Given the description of an element on the screen output the (x, y) to click on. 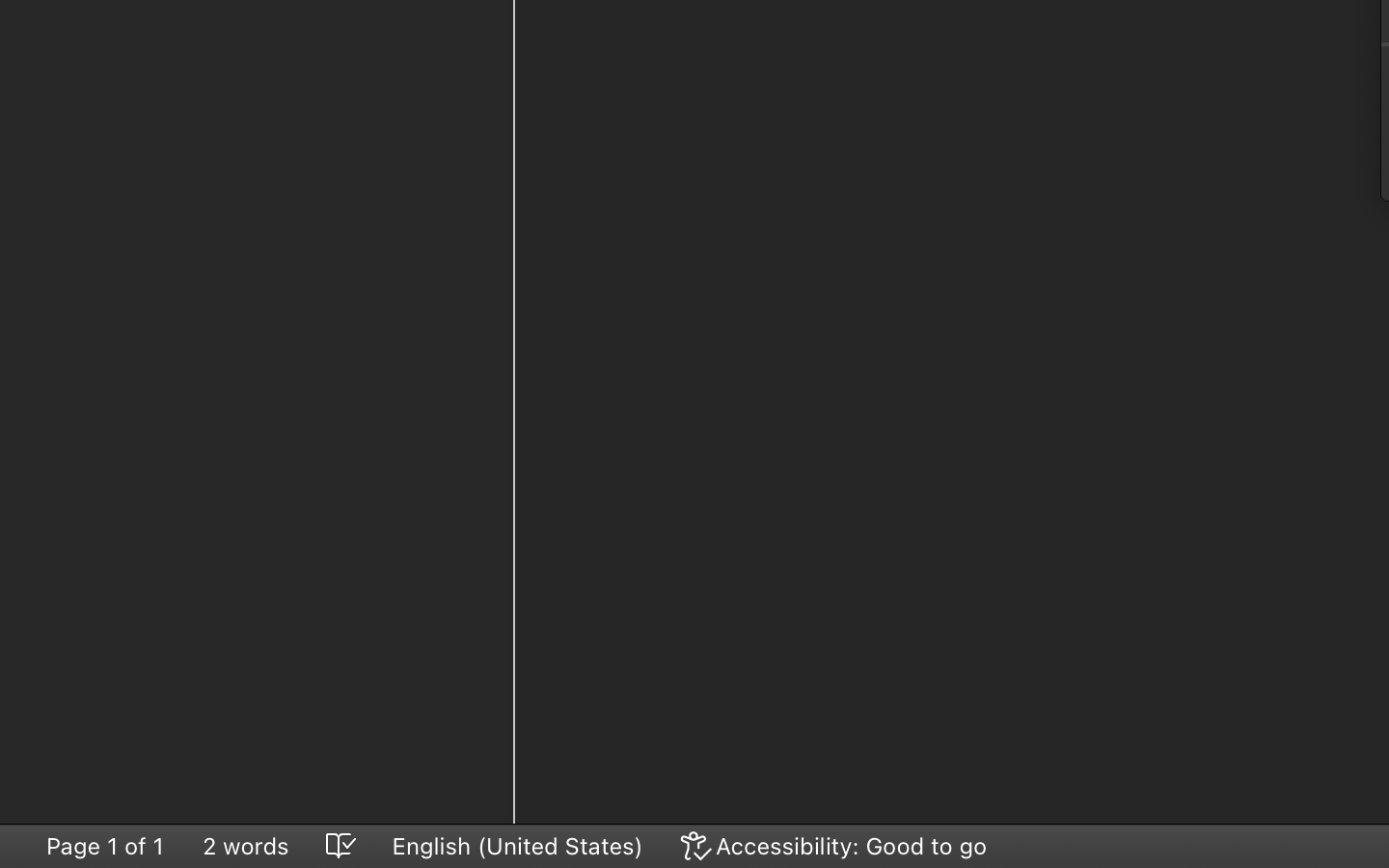
0 Element type: AXCheckBox (835, 845)
